Given the description of an element on the screen output the (x, y) to click on. 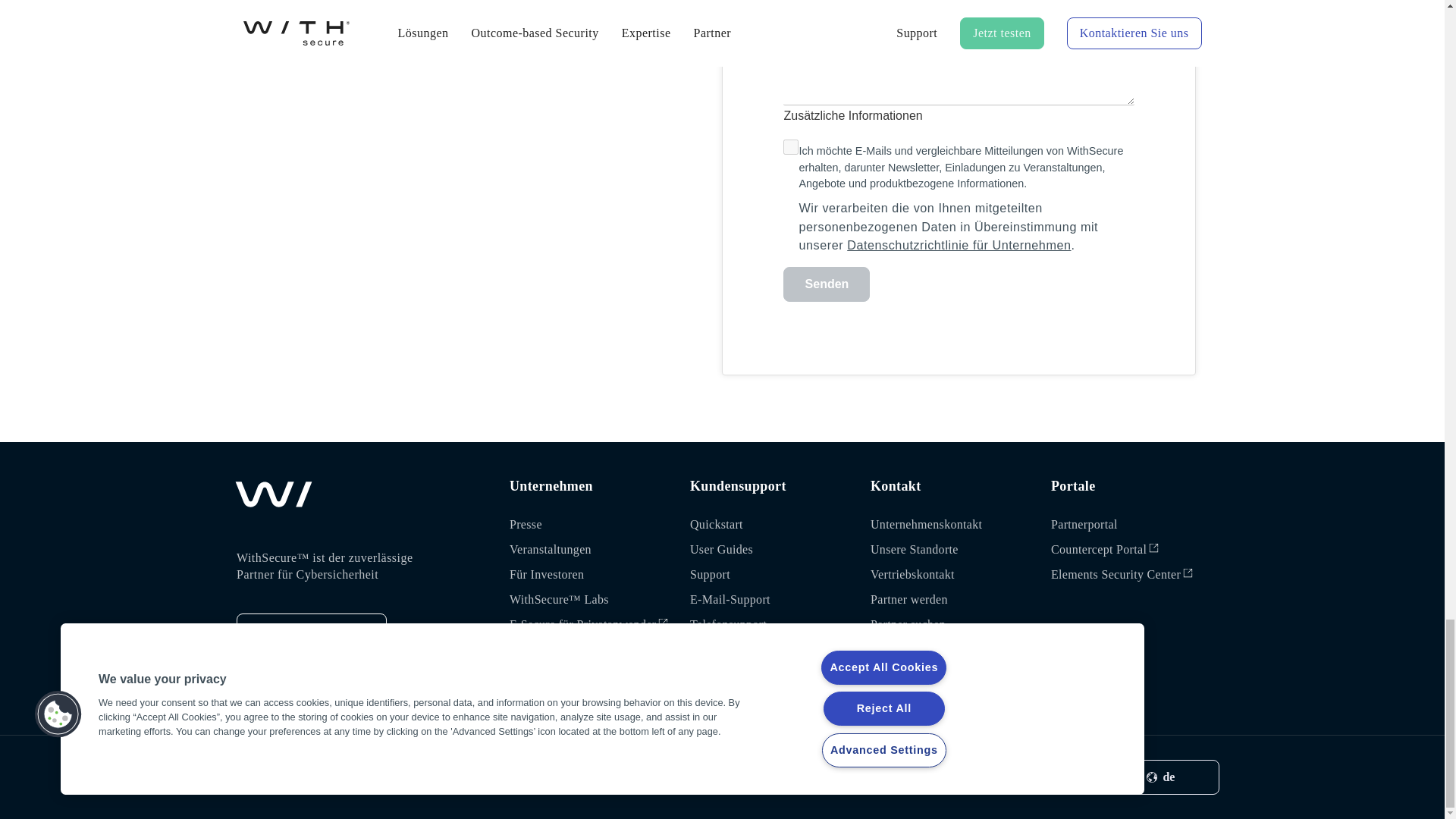
true (790, 146)
